Given the description of an element on the screen output the (x, y) to click on. 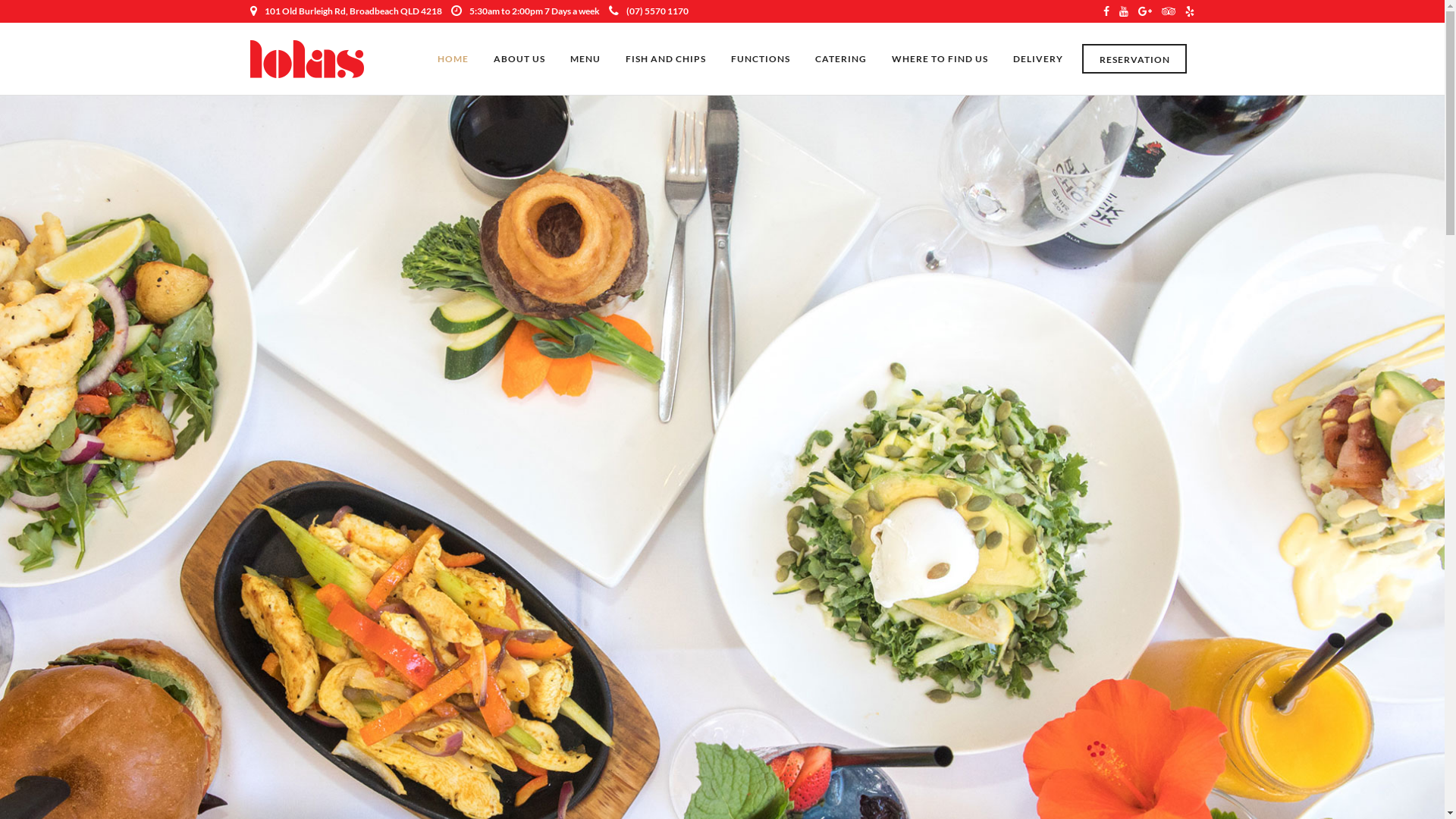
Yelp Element type: hover (1189, 11)
HOME Element type: text (453, 59)
ABOUT US Element type: text (519, 59)
Google+ Element type: hover (1144, 11)
FISH AND CHIPS Element type: text (665, 59)
MENU Element type: text (584, 59)
CATERING Element type: text (840, 59)
DELIVERY Element type: text (1037, 59)
FUNCTIONS Element type: text (760, 59)
RESERVATION Element type: text (1134, 58)
Tripadvisor Element type: hover (1168, 11)
(07) 5570 1170 Element type: text (648, 10)
Youtube Element type: hover (1123, 11)
WHERE TO FIND US Element type: text (939, 59)
